Given the description of an element on the screen output the (x, y) to click on. 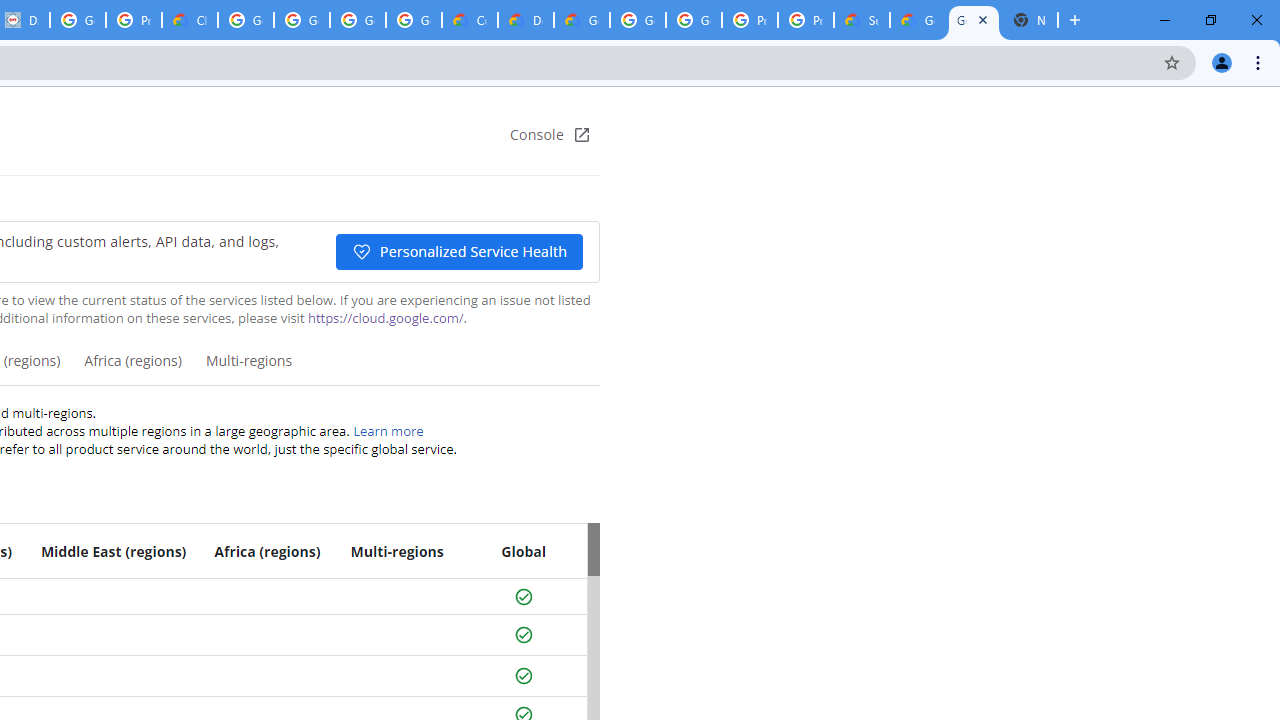
Customer Care | Google Cloud (469, 20)
Support Hub | Google Cloud (861, 20)
Google Cloud Platform (693, 20)
Gemini for Business and Developers | Google Cloud (582, 20)
Google Workspace - Specific Terms (358, 20)
Personalized Service Health (458, 252)
Google Cloud Service Health (917, 20)
Available status (523, 676)
Console (550, 134)
